Given the description of an element on the screen output the (x, y) to click on. 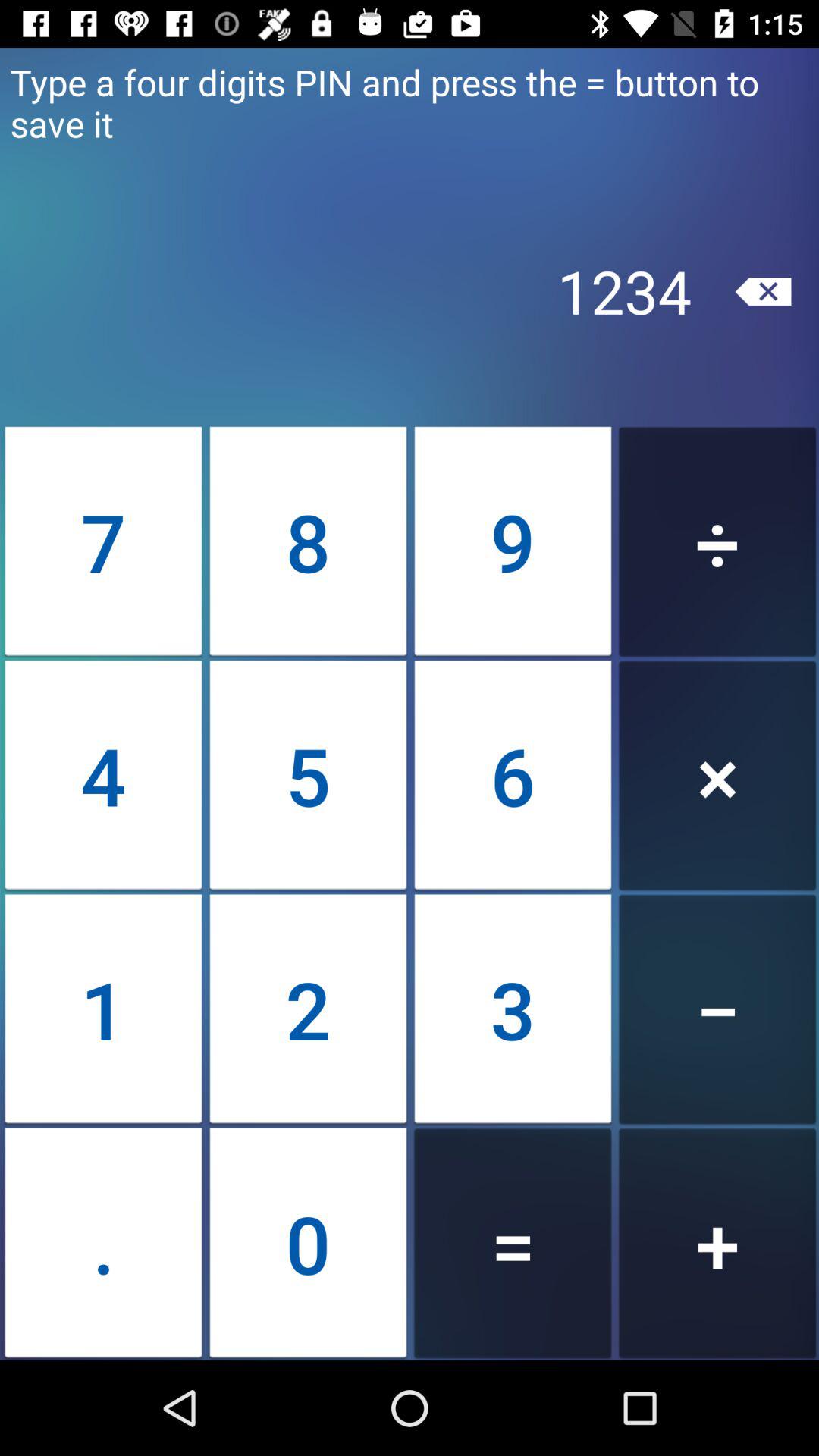
backspace (763, 291)
